Given the description of an element on the screen output the (x, y) to click on. 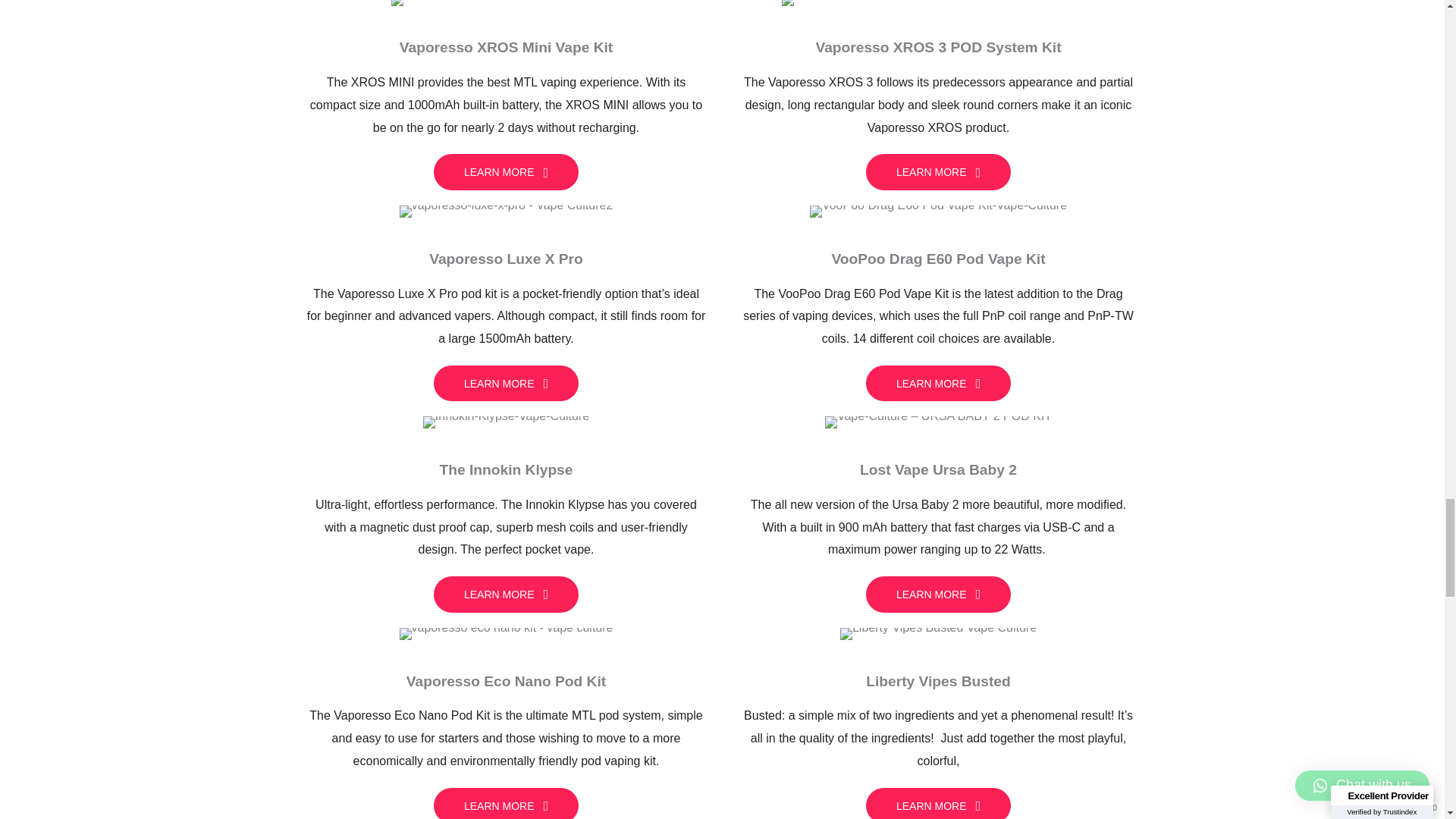
LEARN MORE (505, 171)
LEARN MORE (505, 594)
LEARN MORE (938, 171)
LEARN MORE (938, 594)
LEARN MORE (938, 383)
LEARN MORE (505, 803)
LEARN MORE (505, 383)
